Given the description of an element on the screen output the (x, y) to click on. 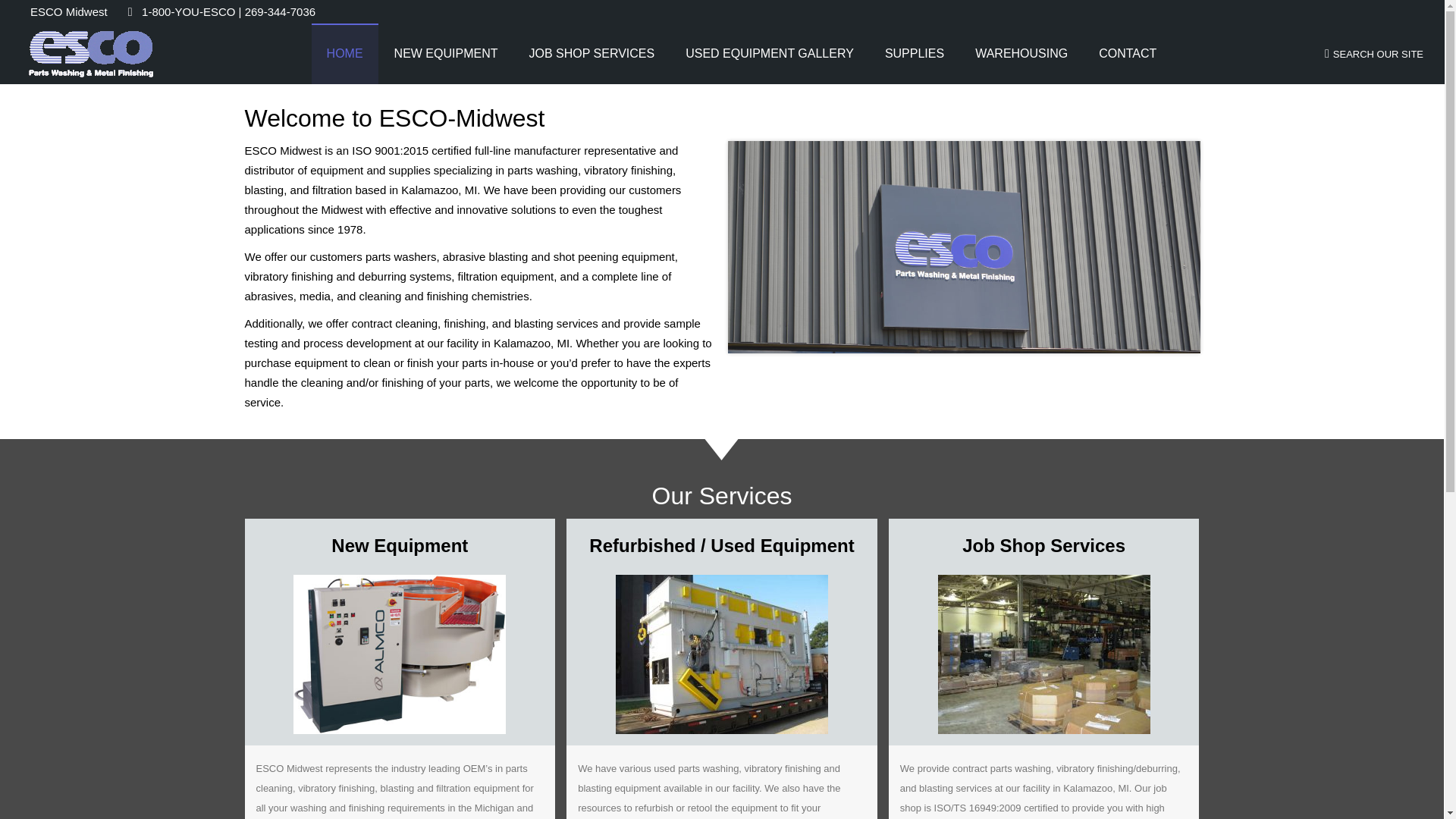
CLDO.COM (1173, 794)
Go! (24, 16)
SEARCH OUR SITE (1373, 52)
USED EQUIPMENT GALLERY (769, 53)
JOB SHOP SERVICES (591, 53)
CONTACT (1127, 53)
Frontsign (963, 246)
ESCO Midwest. (314, 785)
SUPPLIES (914, 53)
NEW EQUIPMENT (445, 53)
WAREHOUSING (1021, 53)
HOME (344, 53)
269-344-7036 (645, 802)
